Given the description of an element on the screen output the (x, y) to click on. 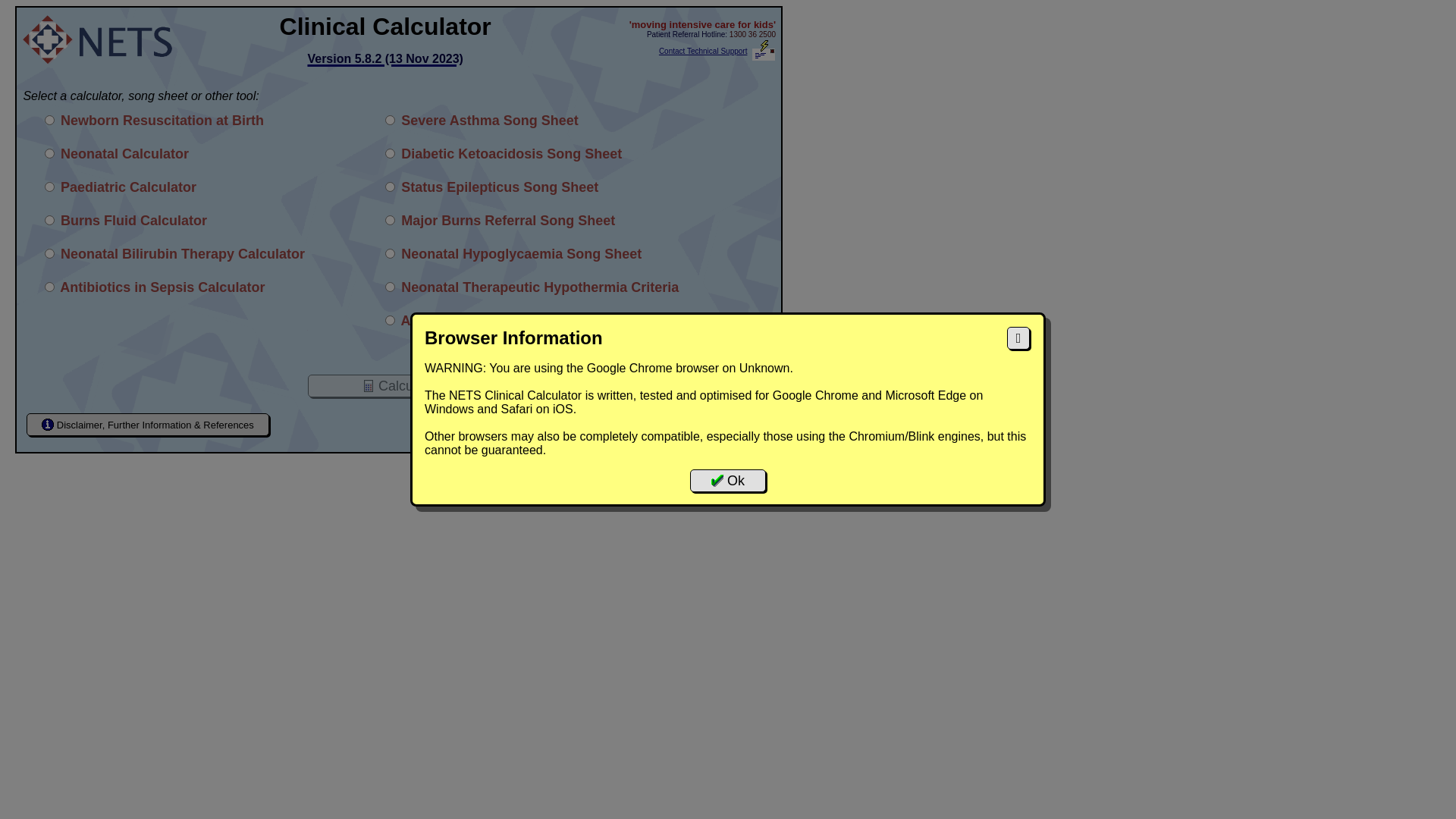
PaedCalc Element type: text (49, 186)
BurnsCalc Element type: text (49, 220)
 Disclaimer, Further Information & References Element type: text (147, 424)
SepsisABx Element type: text (49, 286)
BurnsSong Element type: text (390, 220)
Cooling Element type: text (390, 286)
AdhocSols Element type: text (390, 320)
DKA Element type: text (390, 153)
Contact Technical Support Element type: text (702, 51)
NeoCalc Element type: text (49, 153)
Seizures Element type: text (390, 186)
ResusAtBirth Element type: text (49, 120)
NeoBili Element type: text (49, 253)
NeoHypo Element type: text (390, 253)
SevAsthma Element type: text (390, 120)
 Calculate Element type: text (398, 385)
 Ok Element type: text (727, 480)
Version 5.8.2 (13 Nov 2023) Element type: text (384, 54)
